Given the description of an element on the screen output the (x, y) to click on. 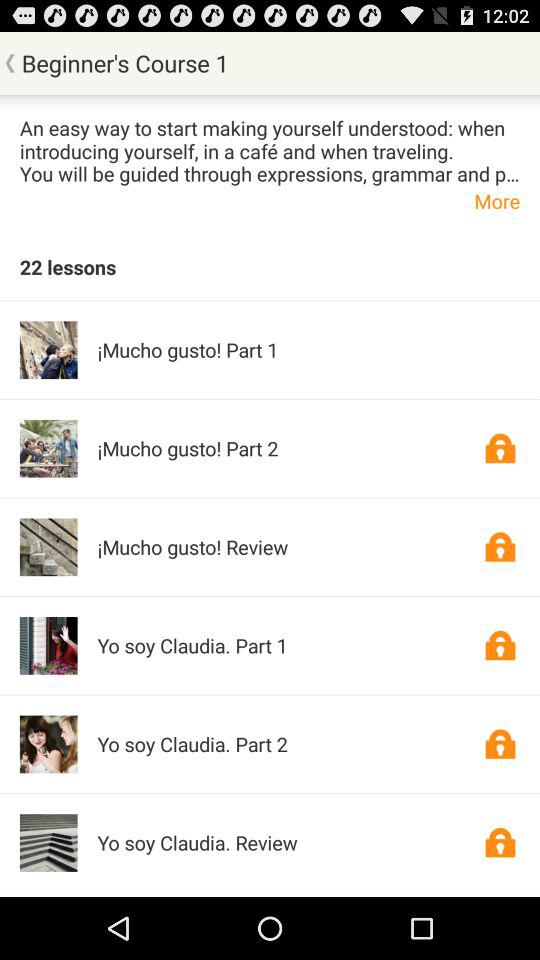
scroll to the more (269, 200)
